Given the description of an element on the screen output the (x, y) to click on. 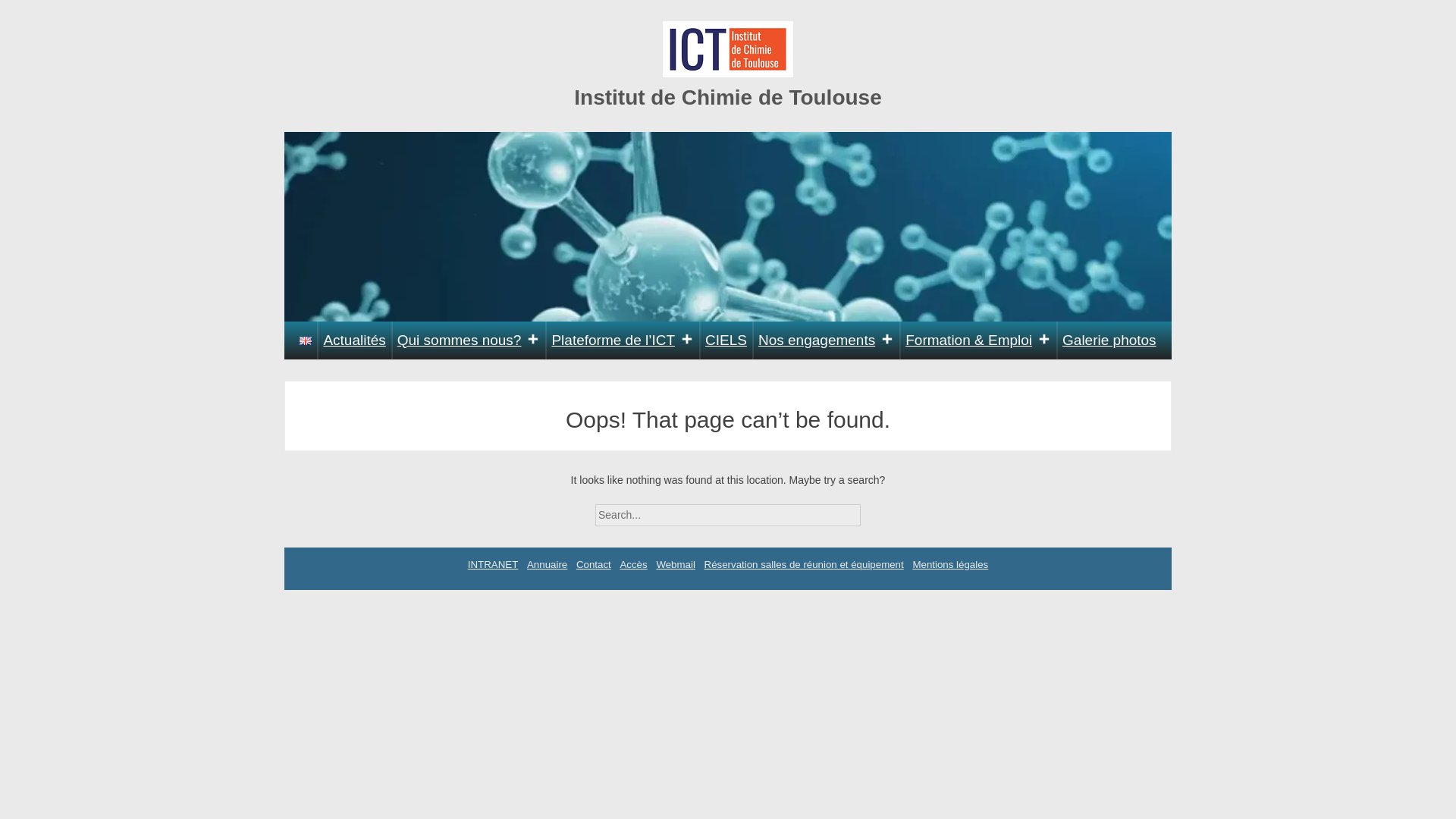
Nos engagements (825, 340)
Institut de Chimie de Toulouse (727, 97)
Search (873, 509)
Qui sommes nous? (468, 340)
CIELS (726, 340)
Search (873, 509)
